Given the description of an element on the screen output the (x, y) to click on. 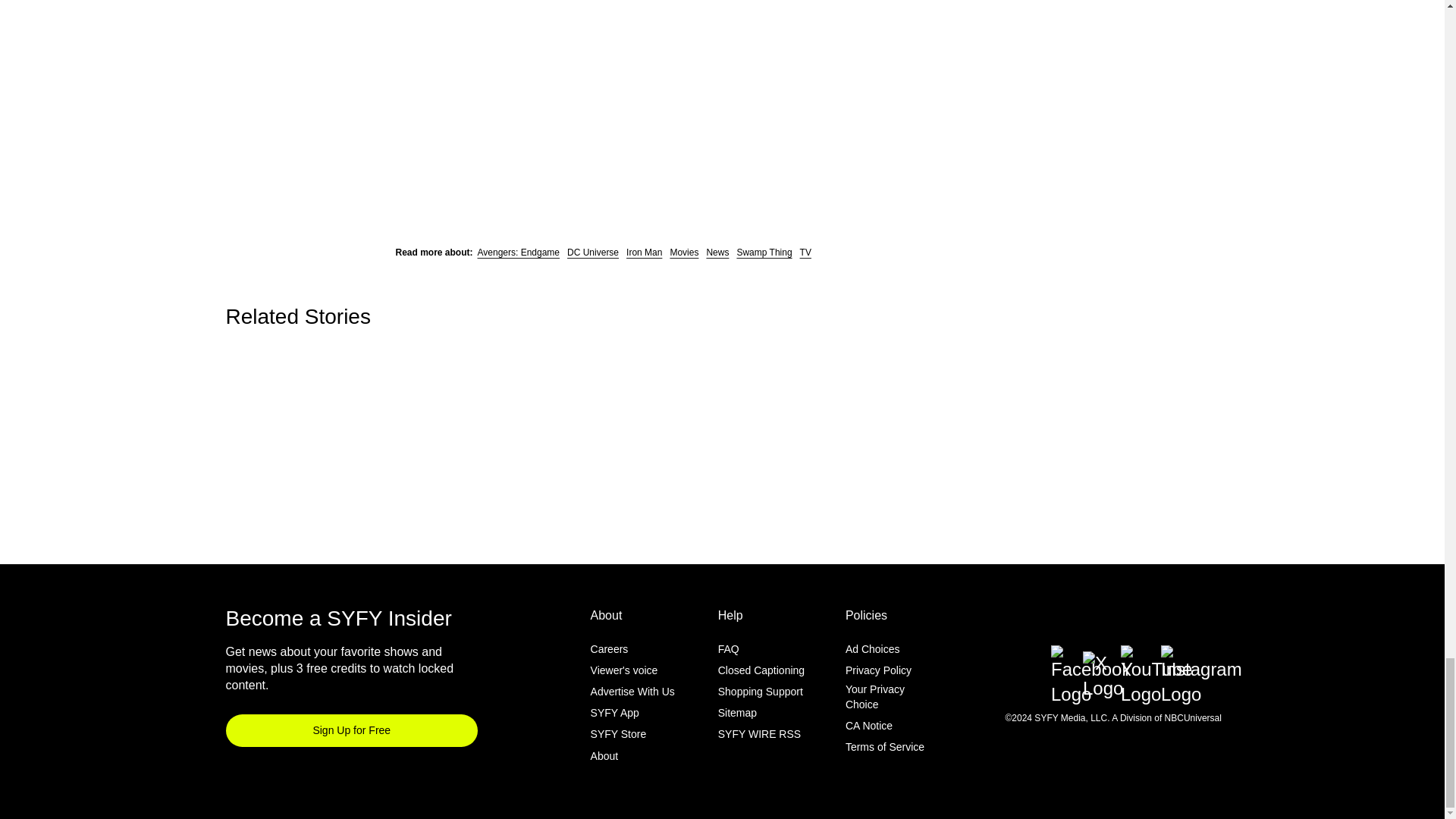
Advertise With Us (633, 691)
